Given the description of an element on the screen output the (x, y) to click on. 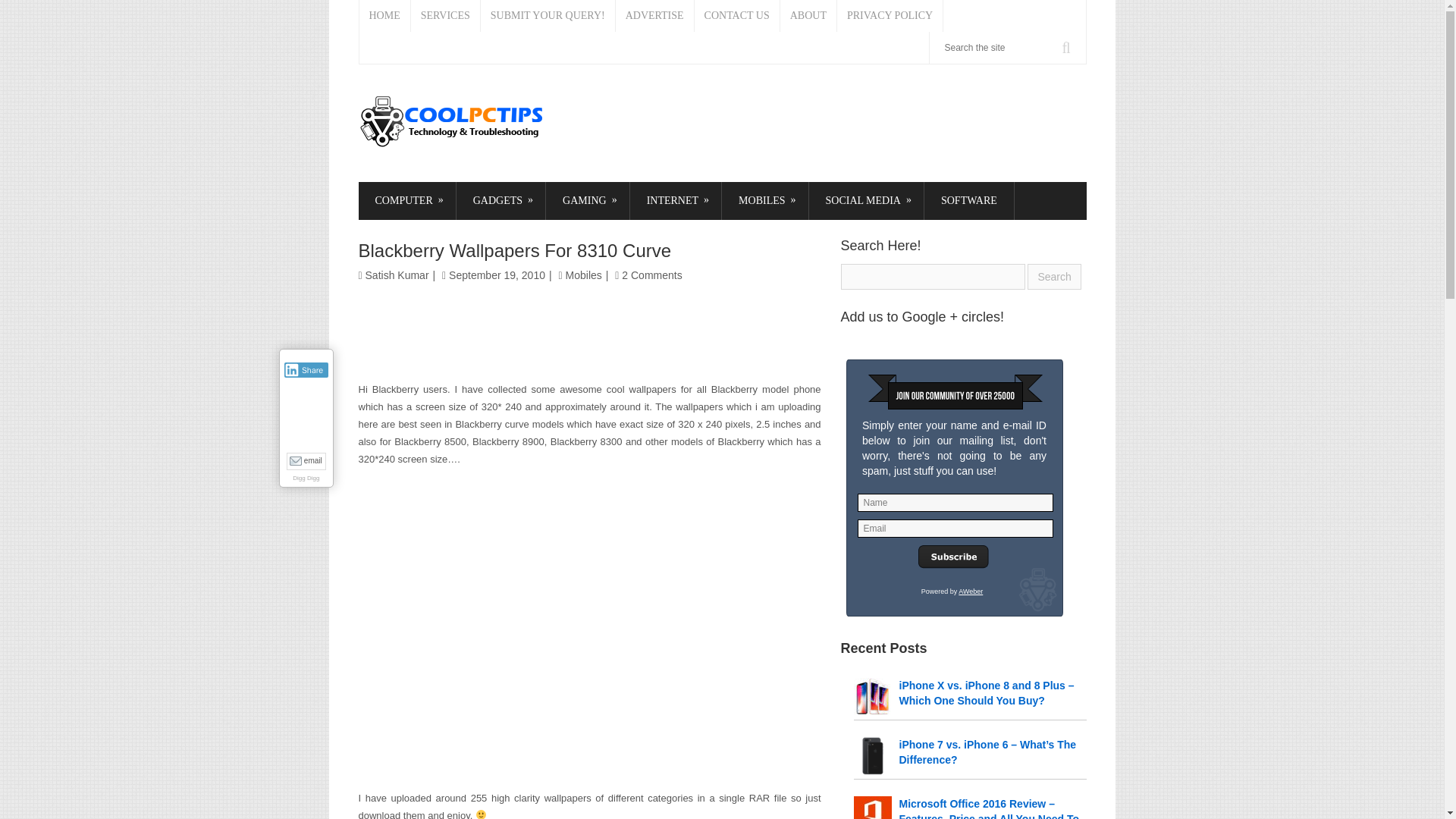
Name (954, 502)
ADVERTISE (654, 15)
SERVICES (445, 15)
Email (954, 528)
ABOUT (808, 15)
Search (1053, 276)
PRIVACY POLICY (890, 15)
HOME (384, 15)
Autoresponder (970, 591)
Advertisement (589, 333)
Advertisement (590, 670)
SUBMIT YOUR QUERY! (547, 15)
Satish Kumar (397, 275)
2 Comments (651, 275)
CONTACT US (737, 15)
